Given the description of an element on the screen output the (x, y) to click on. 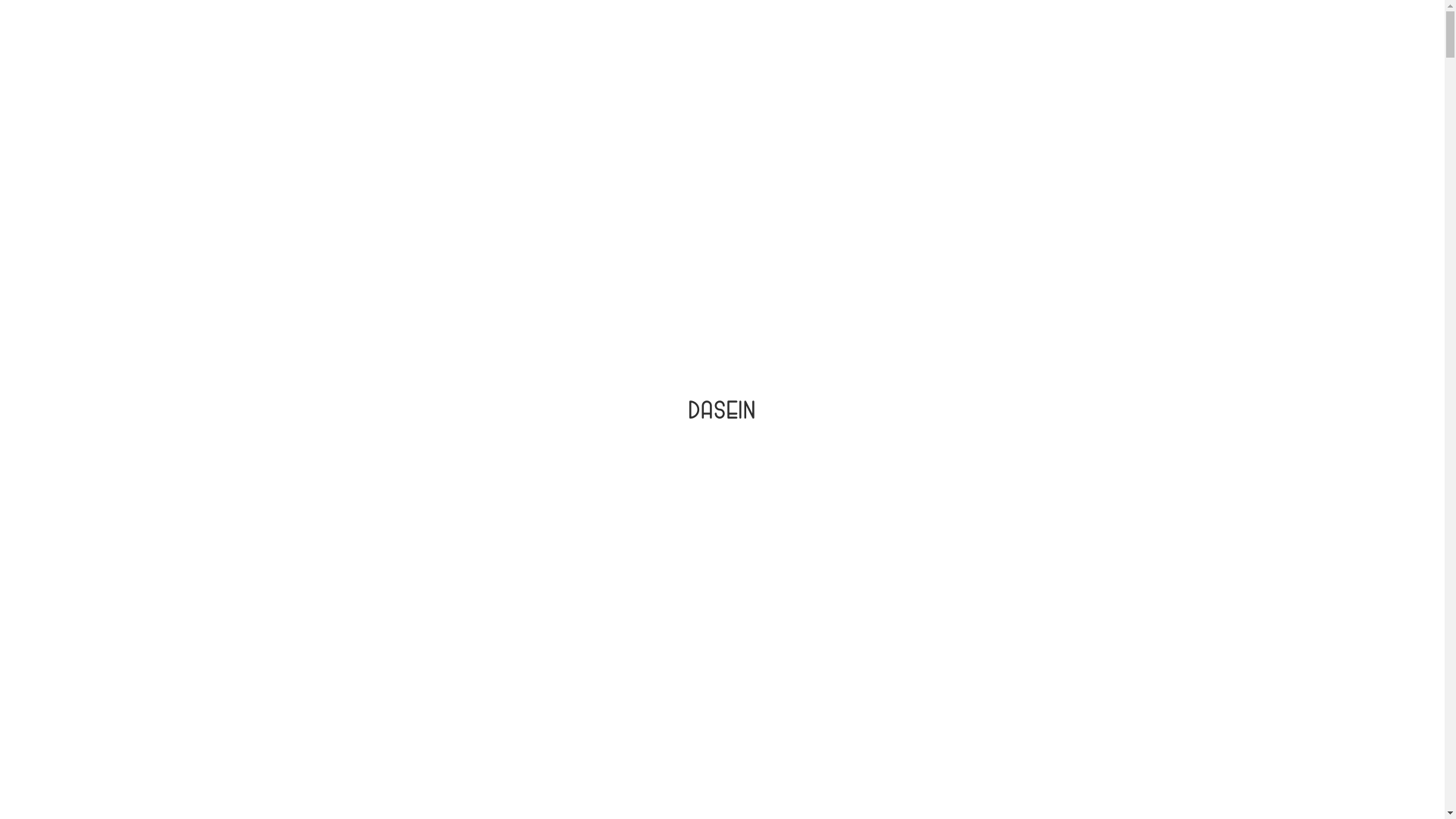
BLOG Element type: text (1042, 55)
PRODUCTS Element type: text (737, 55)
CONTACT Element type: text (1143, 55)
ABOUT US Element type: text (835, 55)
WHERE TO BUY Element type: text (945, 55)
